Given the description of an element on the screen output the (x, y) to click on. 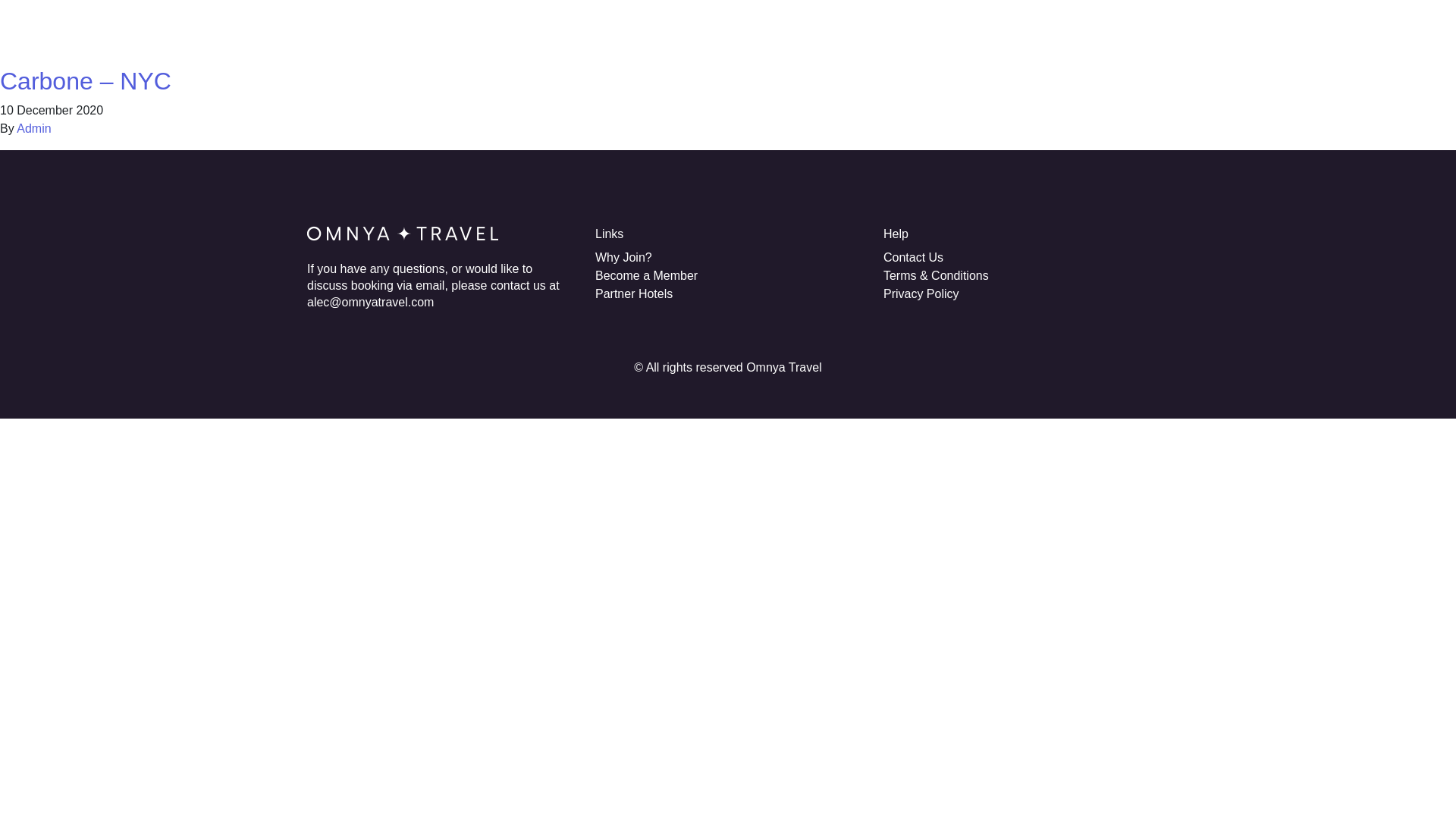
Admin (33, 128)
Partner Hotels (633, 293)
Contact Us (913, 256)
Contact Us (1064, 30)
Why Join? (703, 30)
Membership (789, 30)
Partner Hotels (885, 30)
Privacy Policy (921, 293)
Become a Member (646, 275)
Login (1133, 30)
Why Join? (623, 256)
